Given the description of an element on the screen output the (x, y) to click on. 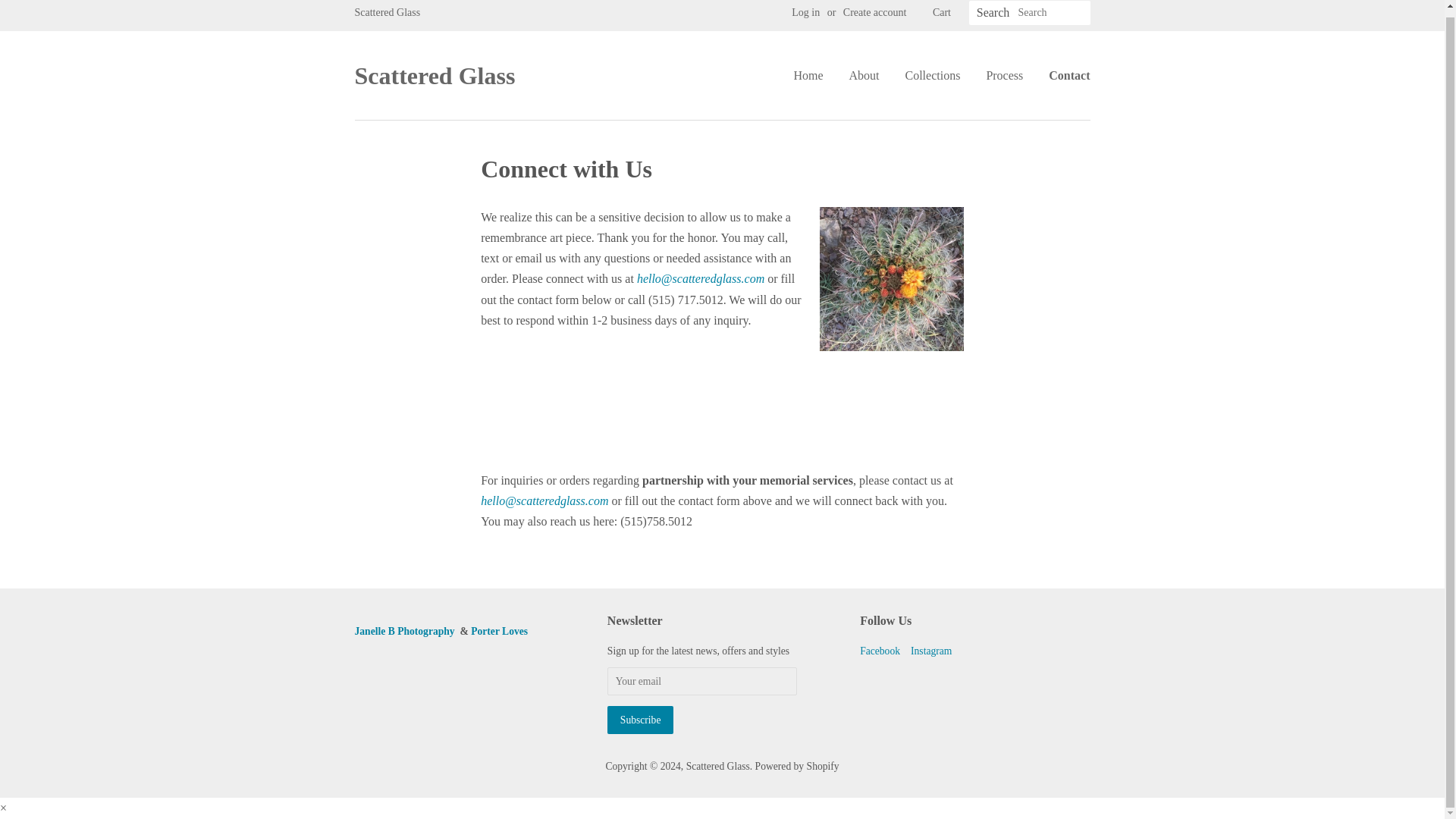
Subscribe (640, 719)
Log in (805, 12)
Scattered Glass contact (700, 278)
Cart (941, 13)
About (863, 75)
Scattered Glass on Instagram (931, 650)
Search (993, 12)
Scattered Glass on Facebook (879, 650)
Scattered Glass (435, 75)
Home (813, 75)
Create account (875, 12)
Contact Scattered Glass (544, 500)
Collections (932, 75)
